Given the description of an element on the screen output the (x, y) to click on. 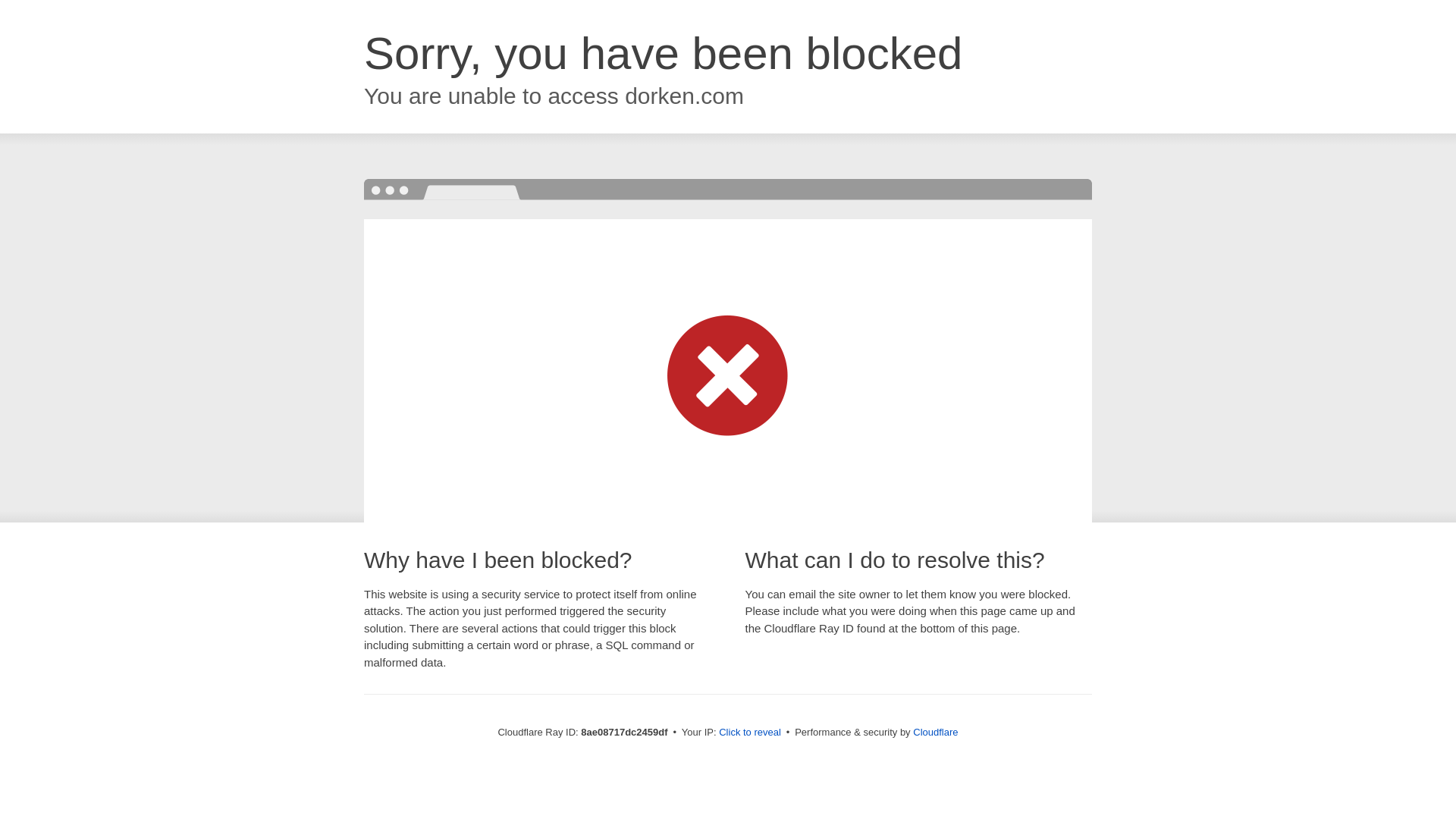
Cloudflare (935, 731)
Click to reveal (749, 732)
